Given the description of an element on the screen output the (x, y) to click on. 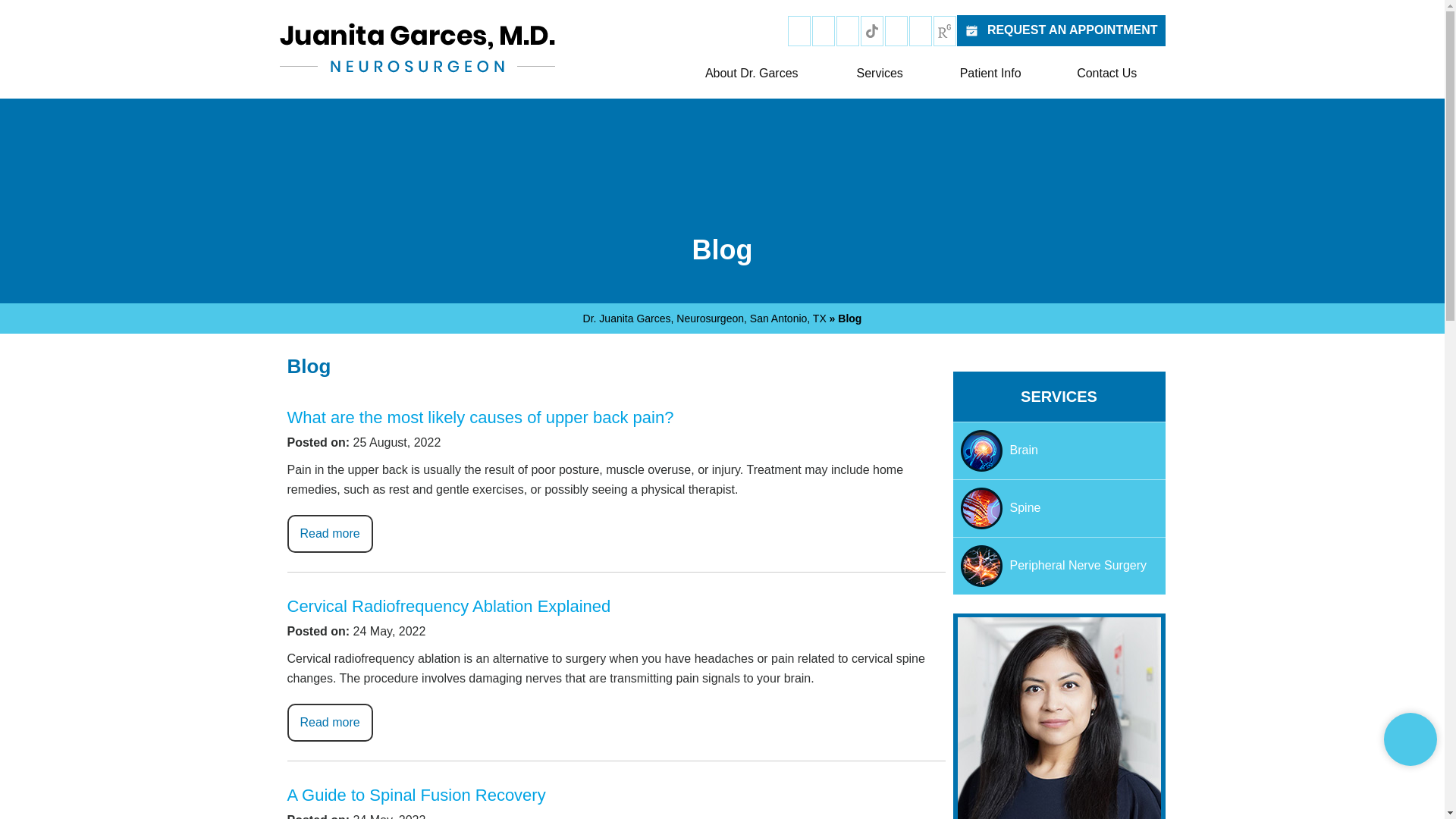
Services (879, 73)
Read more about Cervical Radiofrequency Ablation Explained (329, 722)
About Dr. Garces (751, 73)
Patient Info (989, 73)
Home (656, 73)
REQUEST AN APPOINTMENT (1061, 30)
